Given the description of an element on the screen output the (x, y) to click on. 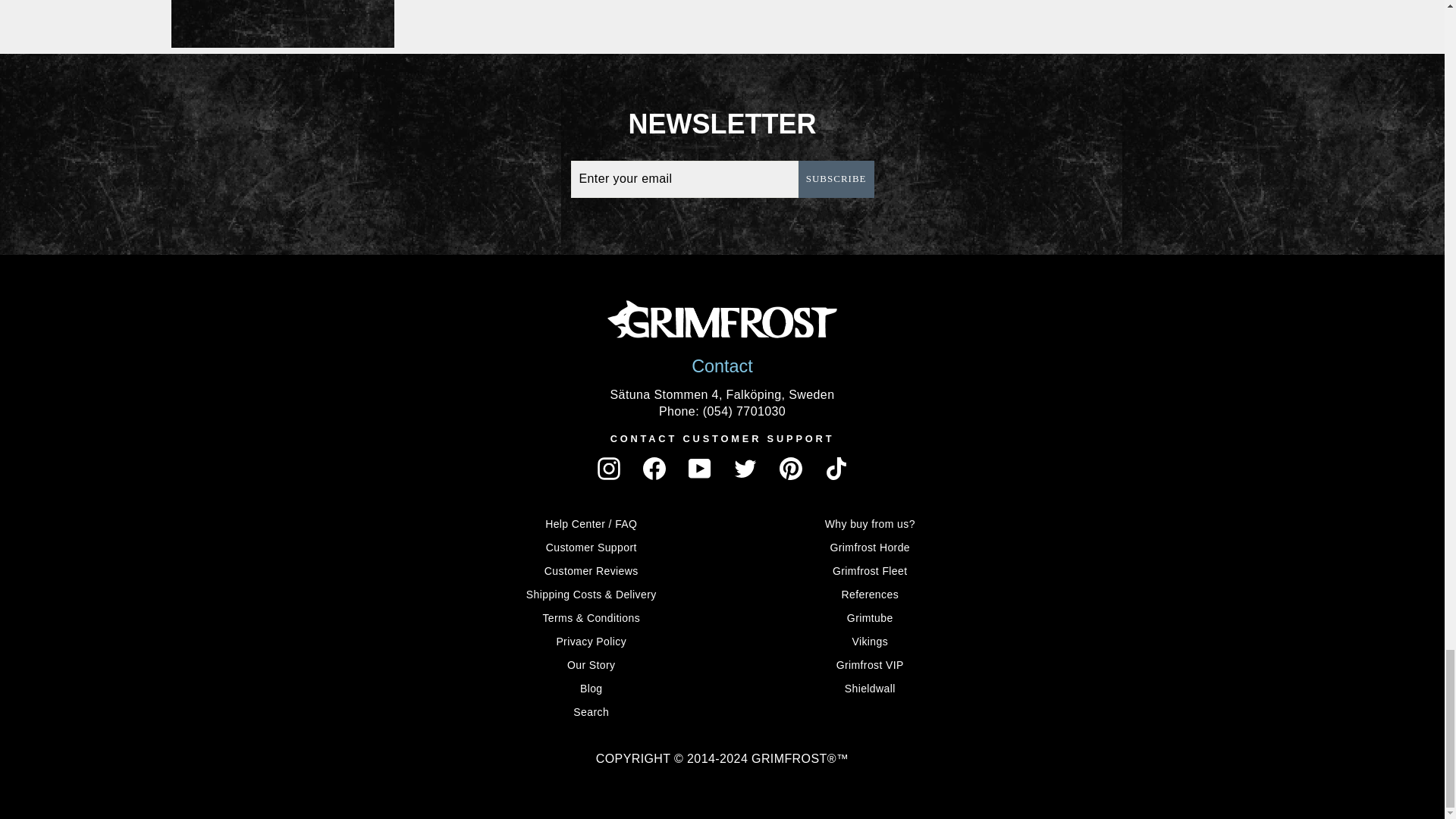
Show articles tagged Visiting the Viking Age (282, 23)
Grimfrost on YouTube (699, 468)
Grimfrost on Twitter (745, 468)
Grimfrost on Pinterest (790, 468)
Grimfrost on Facebook (654, 468)
Grimfrost on TikTok (836, 468)
Grimfrost on Instagram (608, 468)
